Given the description of an element on the screen output the (x, y) to click on. 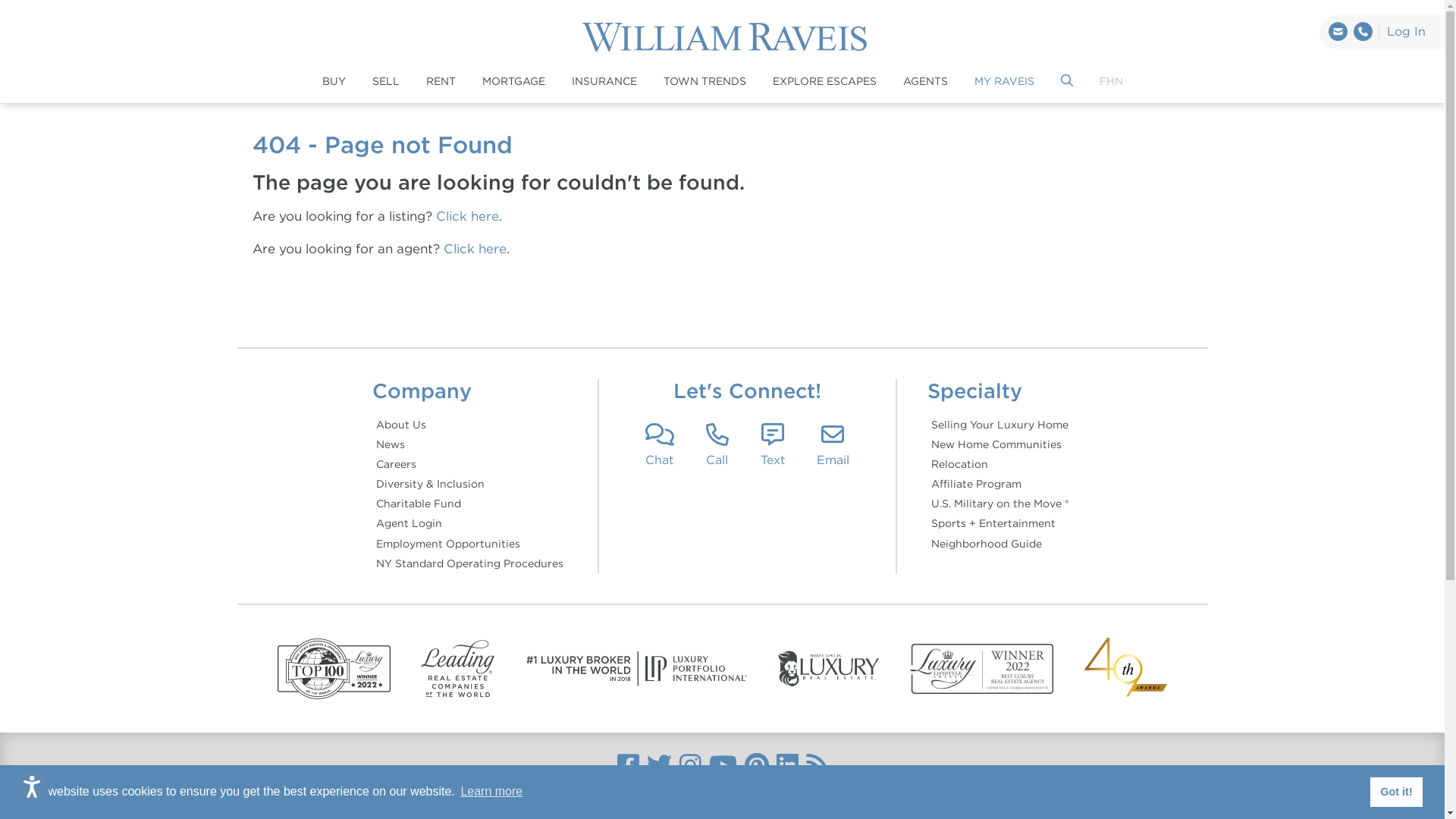
AGENTS Element type: text (924, 82)
Got it! Element type: text (1396, 791)
Call Element type: hover (1362, 32)
Neighborhood Guide Element type: text (999, 543)
LinkedIn Element type: hover (787, 765)
Luxury Real Estate Element type: hover (829, 668)
William Raveis Real Estate, Mortgage, Insurance Element type: hover (730, 36)
Sports + Entertainment Element type: text (999, 523)
Learn more Element type: text (491, 791)
Agent Login Element type: text (468, 523)
Chat Element type: text (659, 444)
Call Element type: text (717, 444)
Click here Element type: text (473, 248)
About Us Element type: text (468, 424)
Selling Your Luxury Home Element type: text (999, 424)
Log In Element type: text (1406, 31)
Charitable Fund Element type: text (468, 503)
Relocation Element type: text (999, 463)
Employment Opportunities Element type: text (468, 543)
YouTube Element type: hover (722, 765)
Twitter Element type: hover (658, 765)
SELL Element type: text (385, 82)
Luxury Lifestyle Awards Winner 2022 Element type: hover (981, 668)
Email Element type: text (832, 444)
49th Annual Awards Element type: hover (1125, 668)
Leading Real Estate Companies of The World Element type: hover (457, 668)
Text Element type: text (772, 444)
News Element type: text (468, 444)
BUY Element type: text (332, 82)
Instagram Element type: hover (690, 765)
Click here Element type: text (466, 215)
NY Standard Operating Procedures Element type: text (468, 563)
Diversity & Inclusion Element type: text (468, 483)
MORTGAGE Element type: text (513, 82)
Pinterest Element type: hover (756, 765)
Affiliate Program Element type: text (999, 483)
Facebook Element type: hover (628, 765)
EXPLORE ESCAPES Element type: text (823, 82)
FHN Element type: text (1111, 82)
Raveis Blog Element type: hover (816, 765)
Top 100 Luxury Lifestyle Awards 2022 Element type: hover (333, 668)
MY RAVEIS Element type: text (1003, 82)
Email Element type: hover (1337, 32)
TOWN TRENDS Element type: text (704, 82)
RENT Element type: text (440, 82)
INSURANCE Element type: text (604, 82)
Careers Element type: text (468, 463)
New Home Communities Element type: text (999, 444)
